Given the description of an element on the screen output the (x, y) to click on. 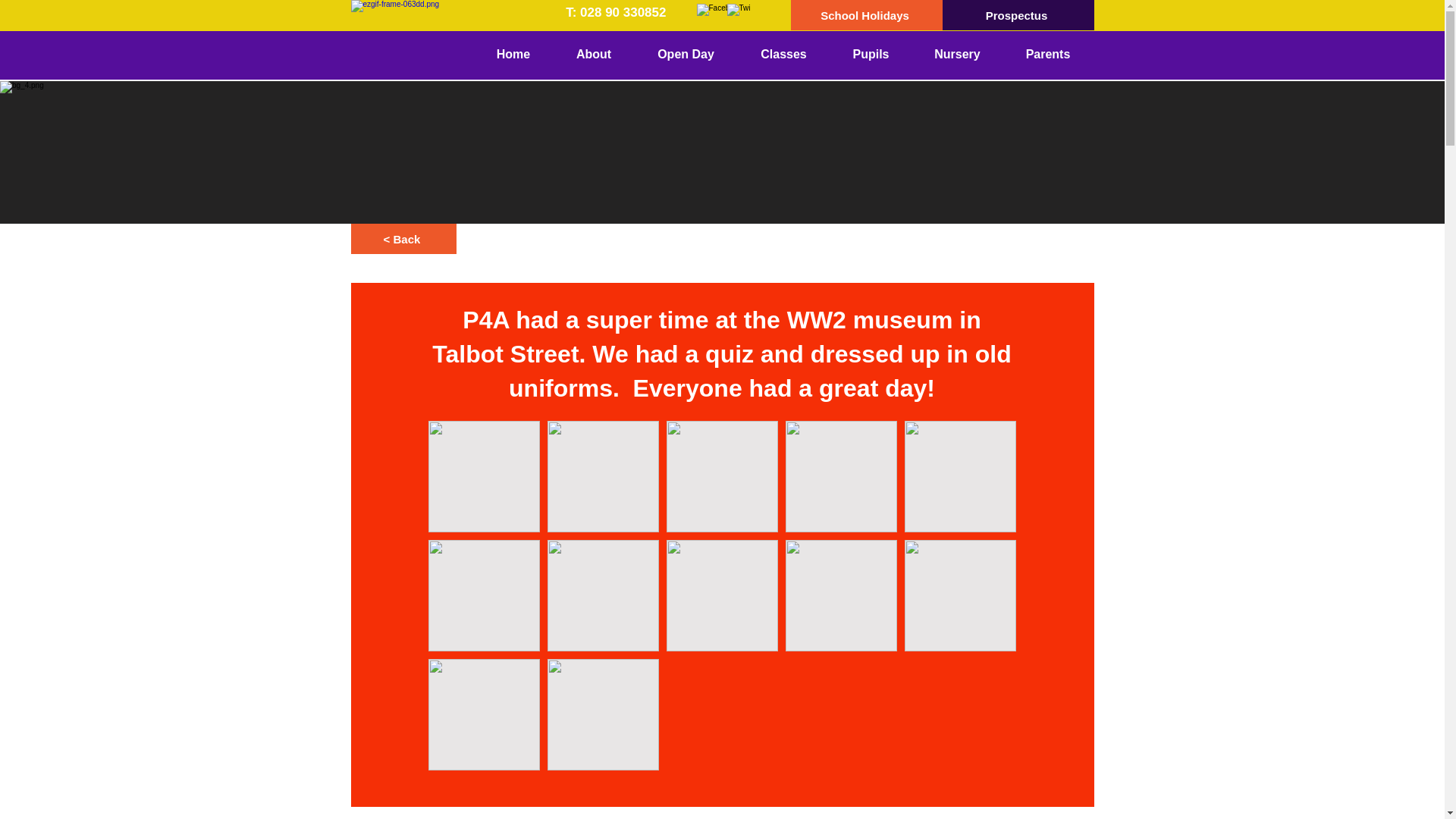
School Holidays (866, 15)
Home (513, 54)
Open Day (684, 54)
Prospectus (1017, 15)
